Given the description of an element on the screen output the (x, y) to click on. 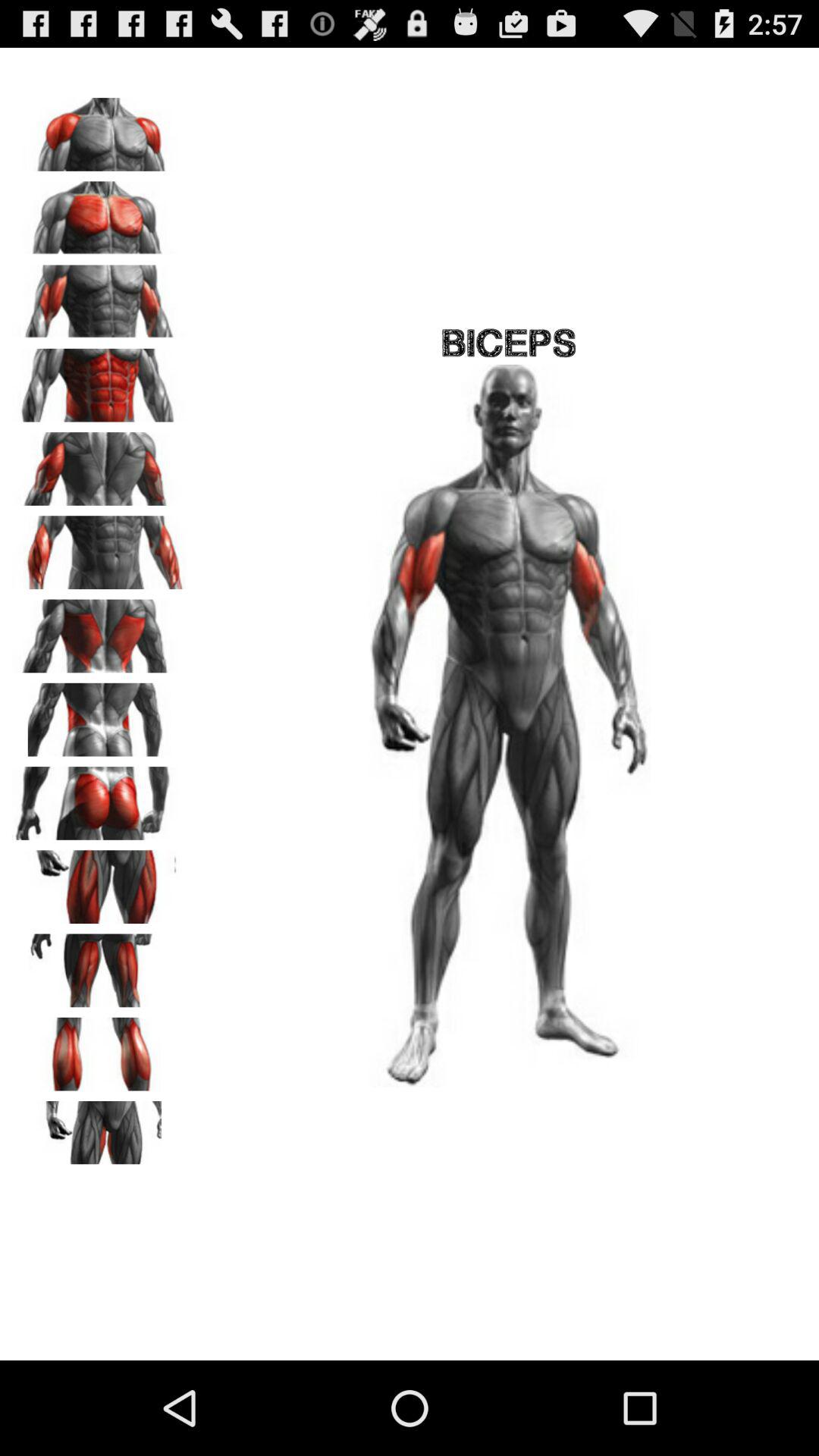
select this (99, 296)
